Given the description of an element on the screen output the (x, y) to click on. 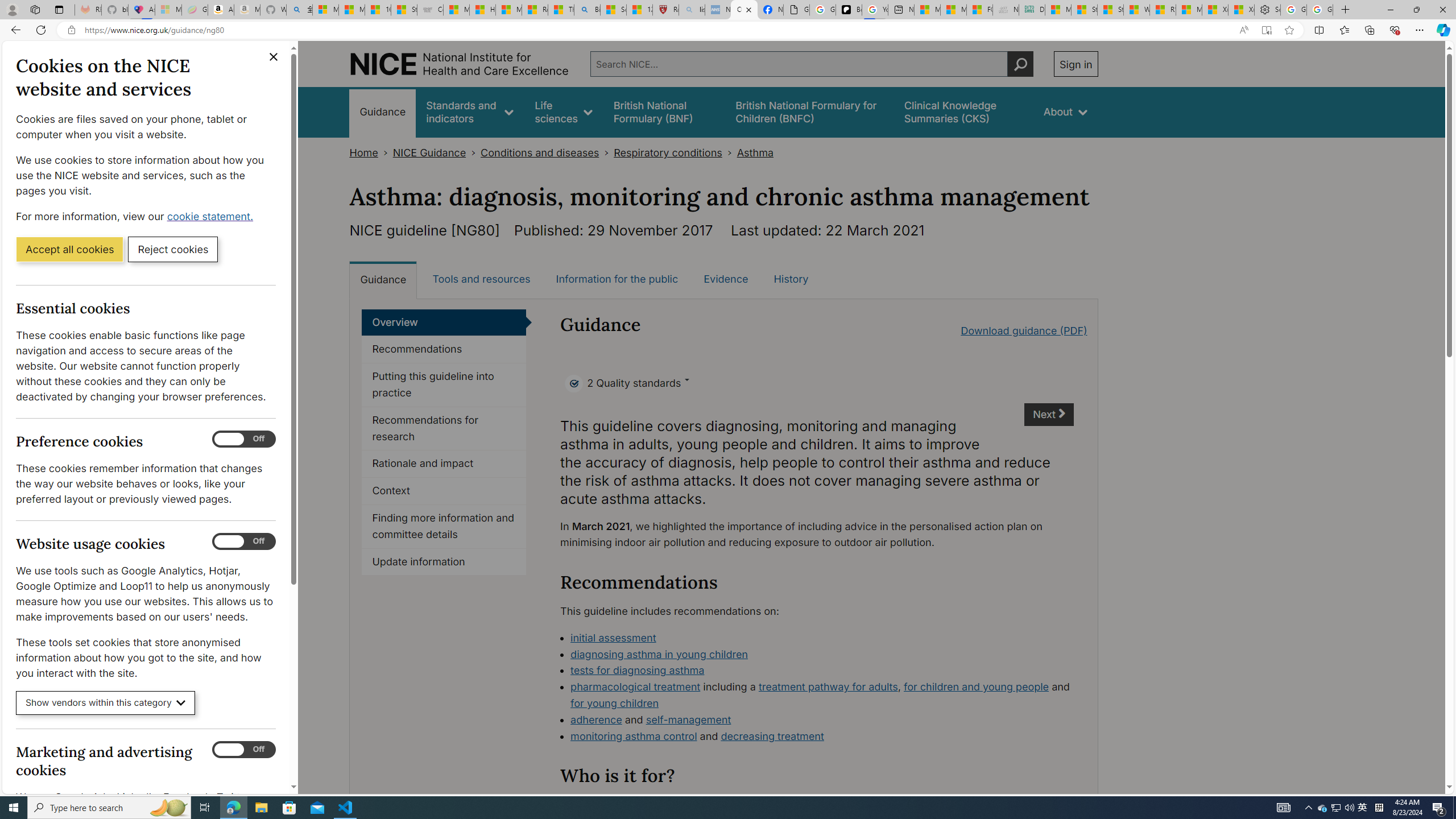
for young children (614, 702)
History (790, 279)
decreasing treatment (772, 735)
Reject cookies (173, 248)
NICE Guidance (429, 152)
Update information (444, 561)
Home> (371, 152)
monitoring asthma control and decreasing treatment (822, 736)
